Given the description of an element on the screen output the (x, y) to click on. 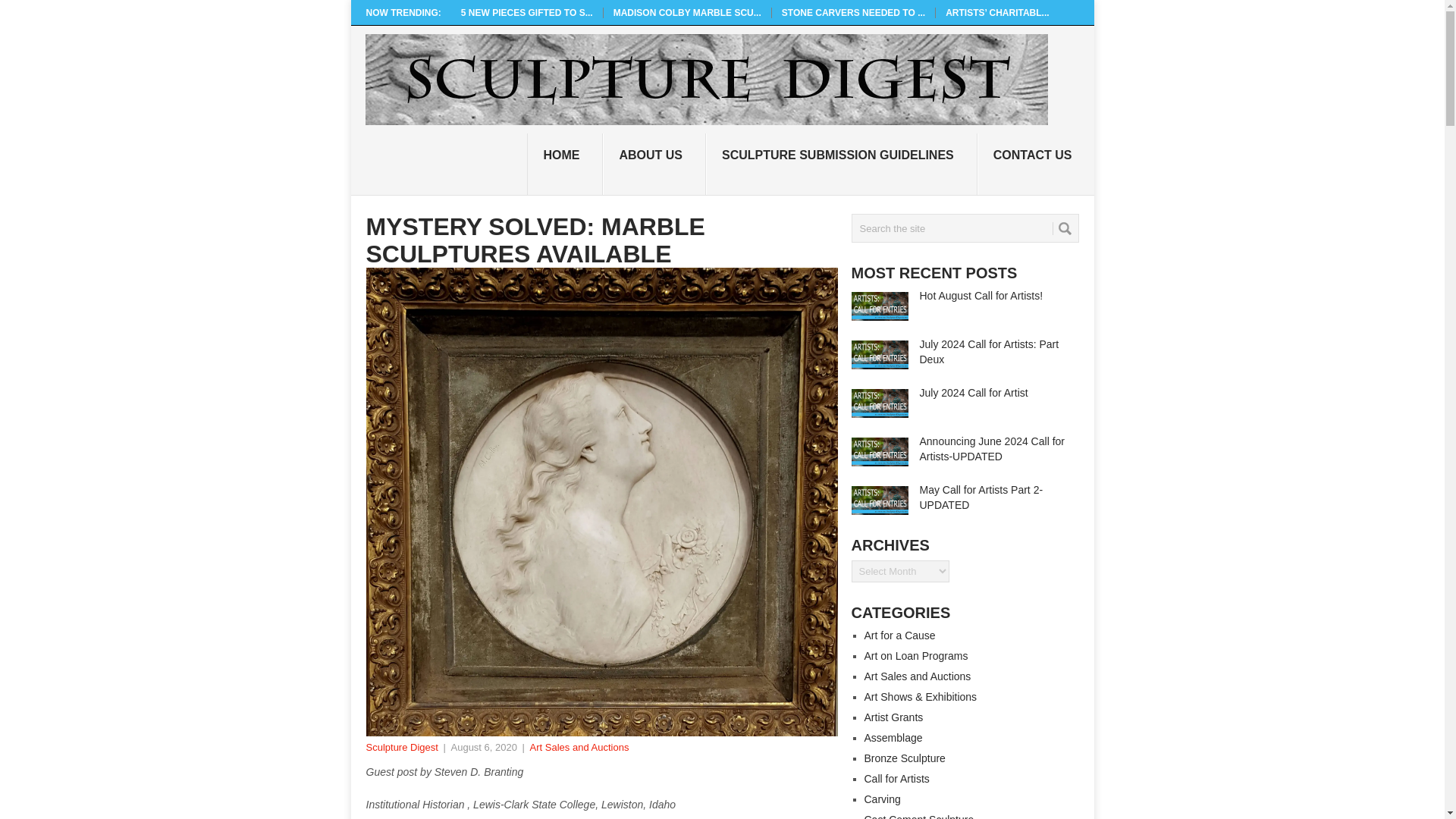
5 New Pieces Gifted to Sculpture Garden (526, 12)
Posts by Sculpture Digest (401, 747)
ABOUT US (654, 164)
Art Sales and Auctions (578, 747)
HOME (564, 164)
CONTACT US (1035, 164)
Search (1064, 228)
Stone Carvers Needed to Restore Notre Dame (852, 12)
STONE CARVERS NEEDED TO ... (852, 12)
Madison Colby Marble Sculptures Update (686, 12)
